Given the description of an element on the screen output the (x, y) to click on. 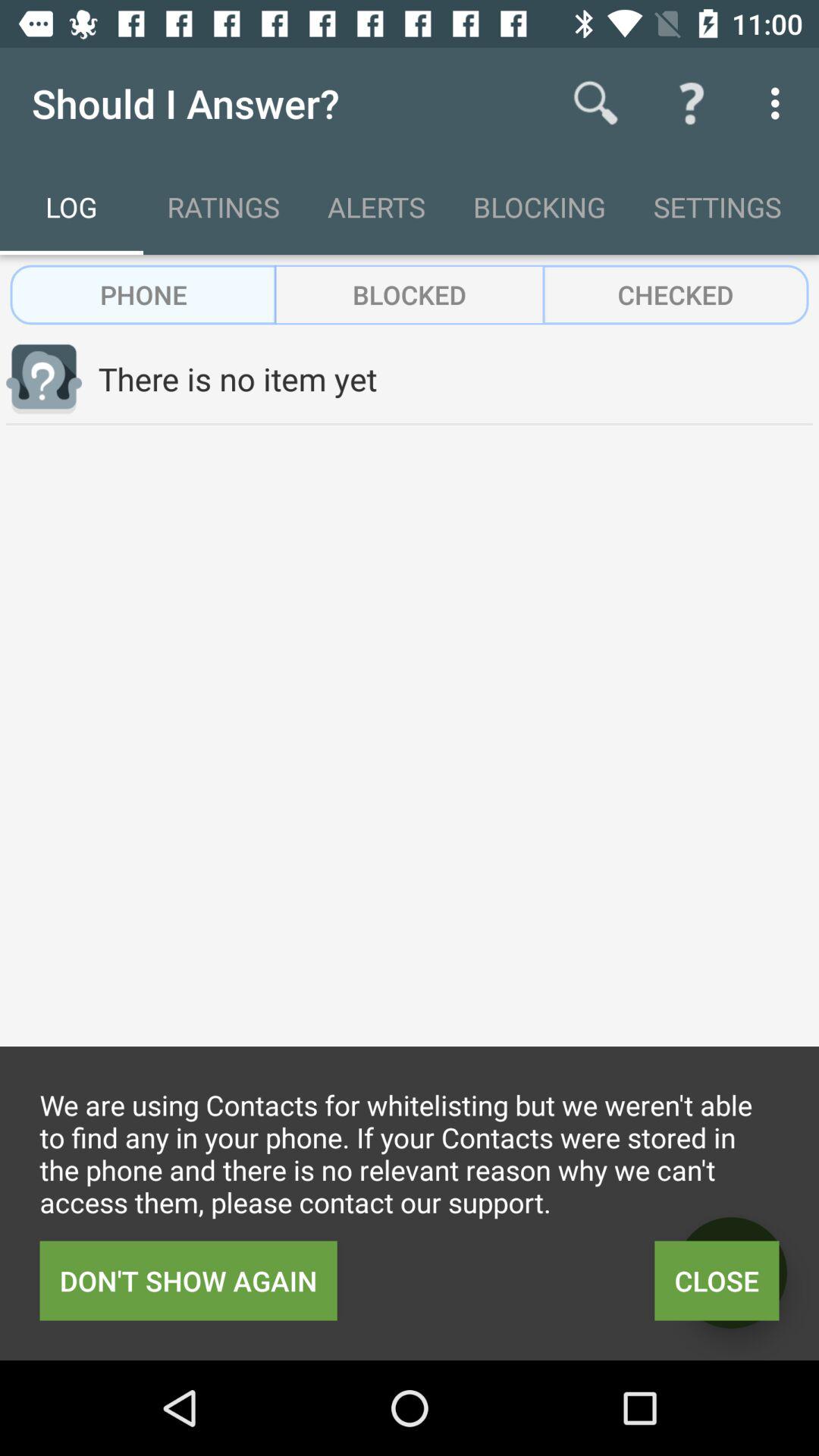
select item above the settings (691, 103)
